Given the description of an element on the screen output the (x, y) to click on. 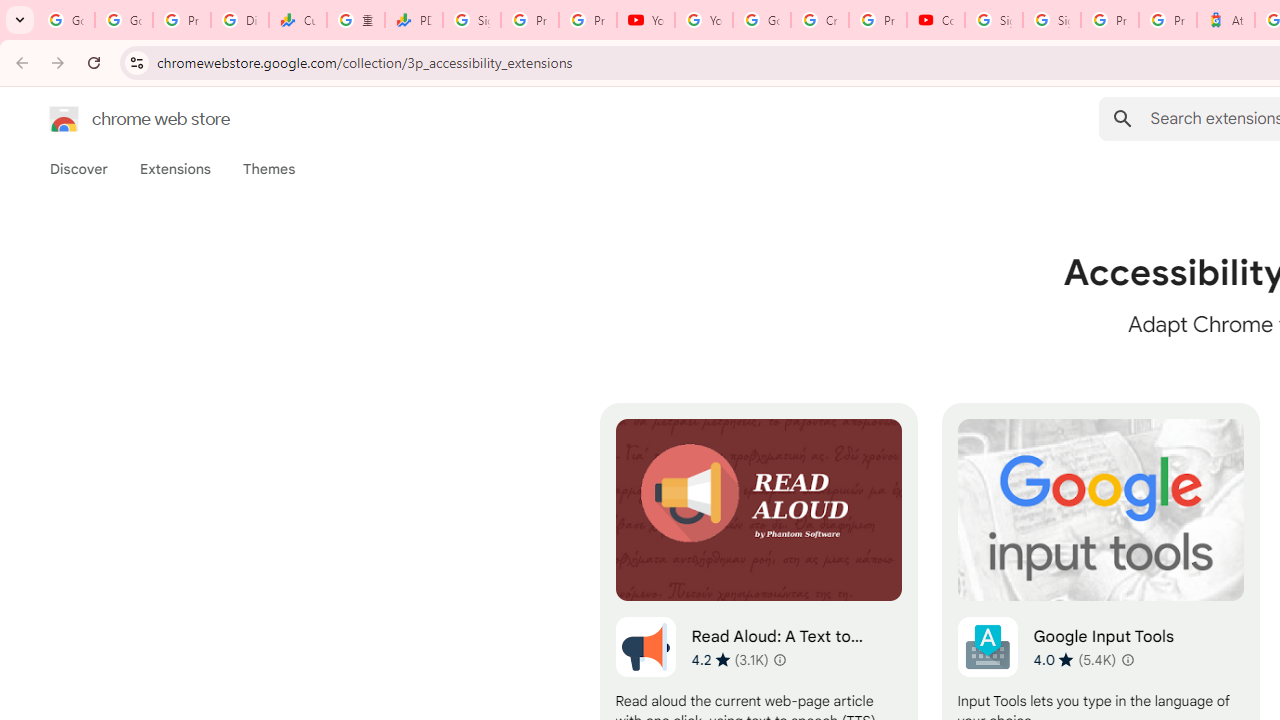
PDD Holdings Inc - ADR (PDD) Price & News - Google Finance (413, 20)
Average rating 4.2 out of 5 stars. 3.1K ratings. (730, 659)
Create your Google Account (819, 20)
